Given the description of an element on the screen output the (x, y) to click on. 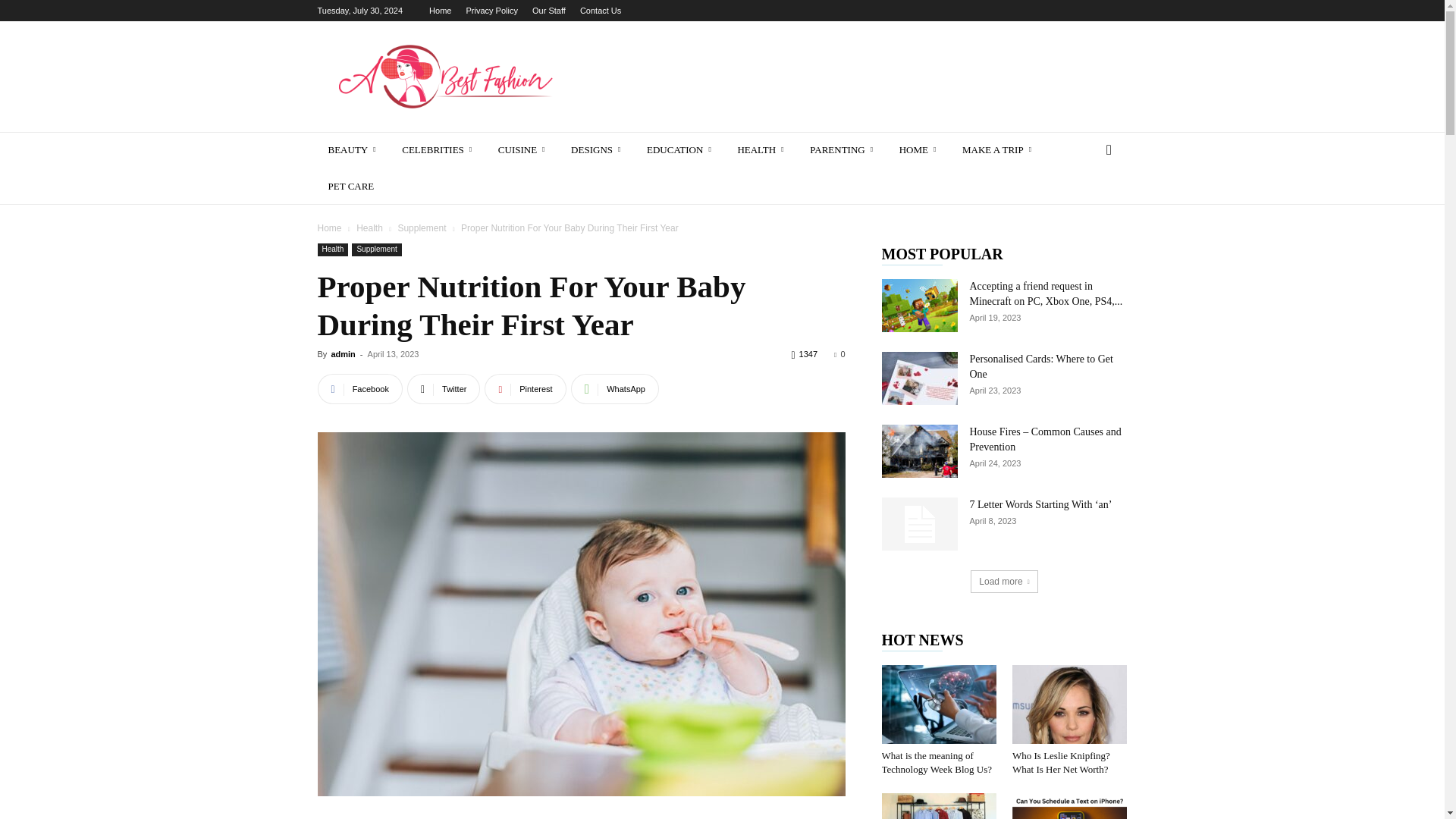
View all posts in Supplement (421, 227)
Twitter (443, 388)
View all posts in Health (369, 227)
Pinterest (525, 388)
Advertisement (850, 76)
WhatsApp (614, 388)
Facebook (359, 388)
